Given the description of an element on the screen output the (x, y) to click on. 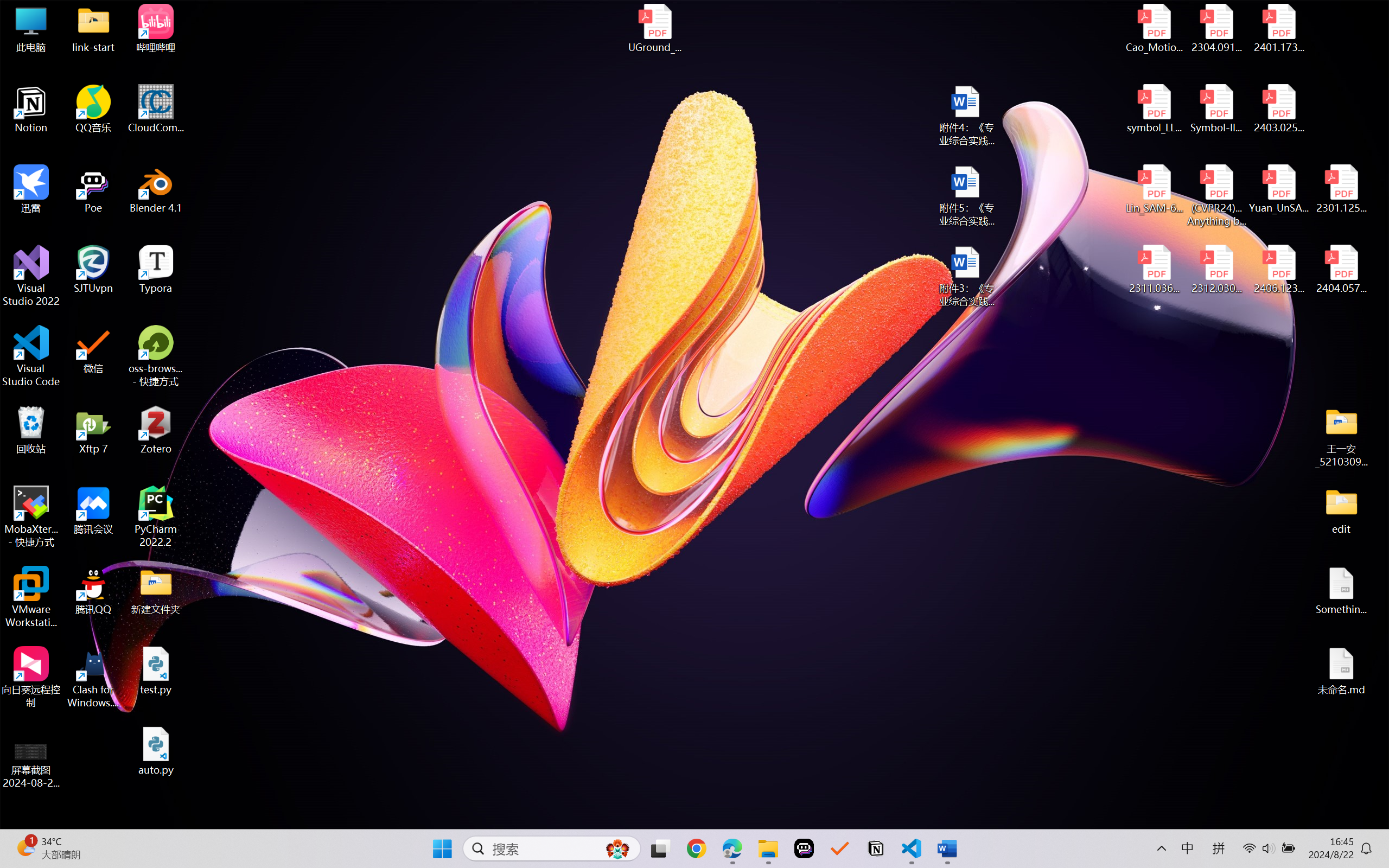
2301.12597v3.pdf (1340, 189)
Blender 4.1 (156, 189)
2403.02502v1.pdf (1278, 109)
VMware Workstation Pro (31, 597)
auto.py (156, 751)
SJTUvpn (93, 269)
2312.03032v2.pdf (1216, 269)
